Given the description of an element on the screen output the (x, y) to click on. 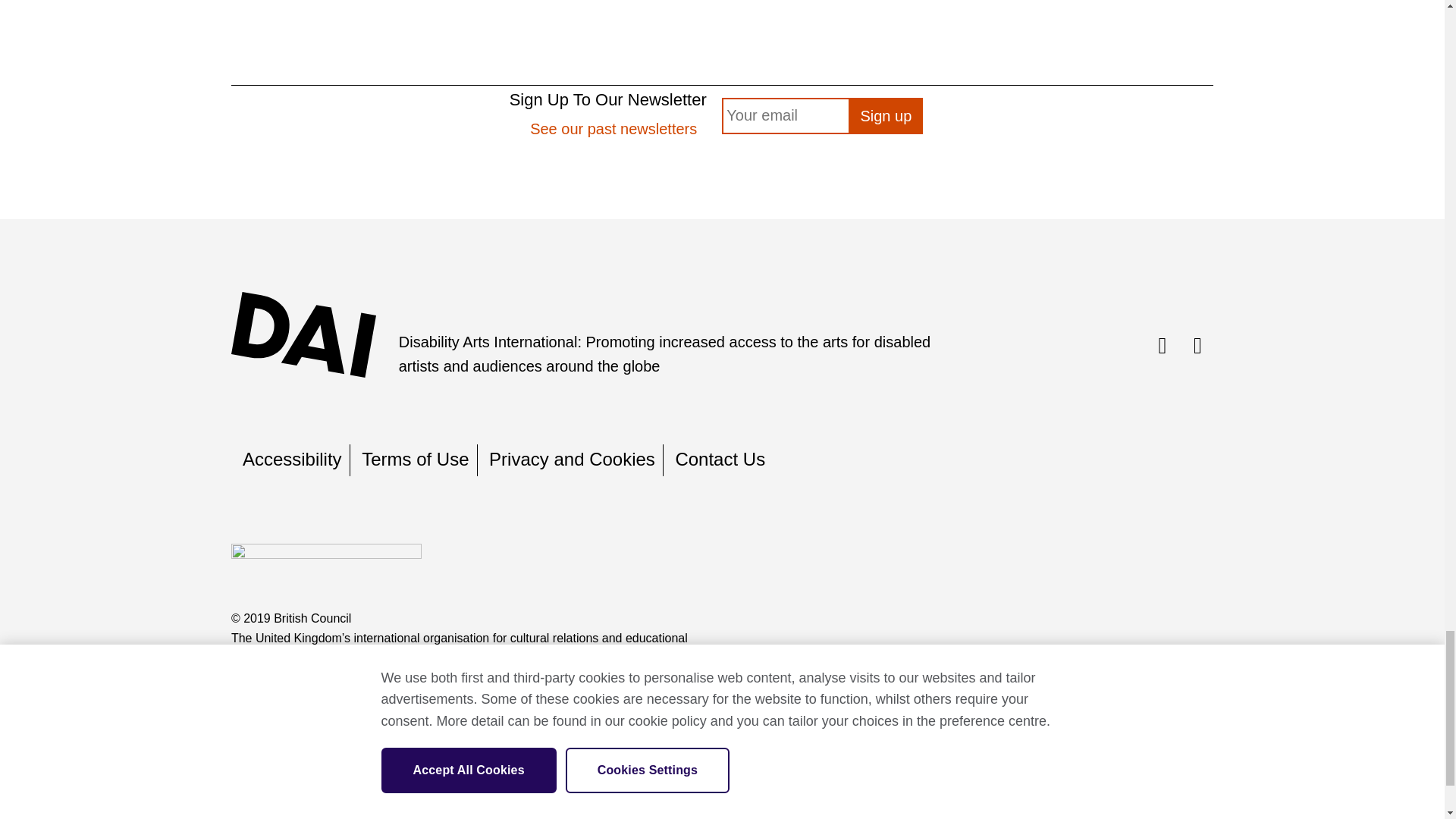
Sign up (885, 115)
Privacy and Cookies (572, 458)
Terms of Use (414, 458)
Contact Us (720, 458)
Sign up (885, 115)
Europe Beyond Access: the key achievements and successes (722, 15)
Accessibility (292, 458)
See our past newsletters (613, 128)
